Given the description of an element on the screen output the (x, y) to click on. 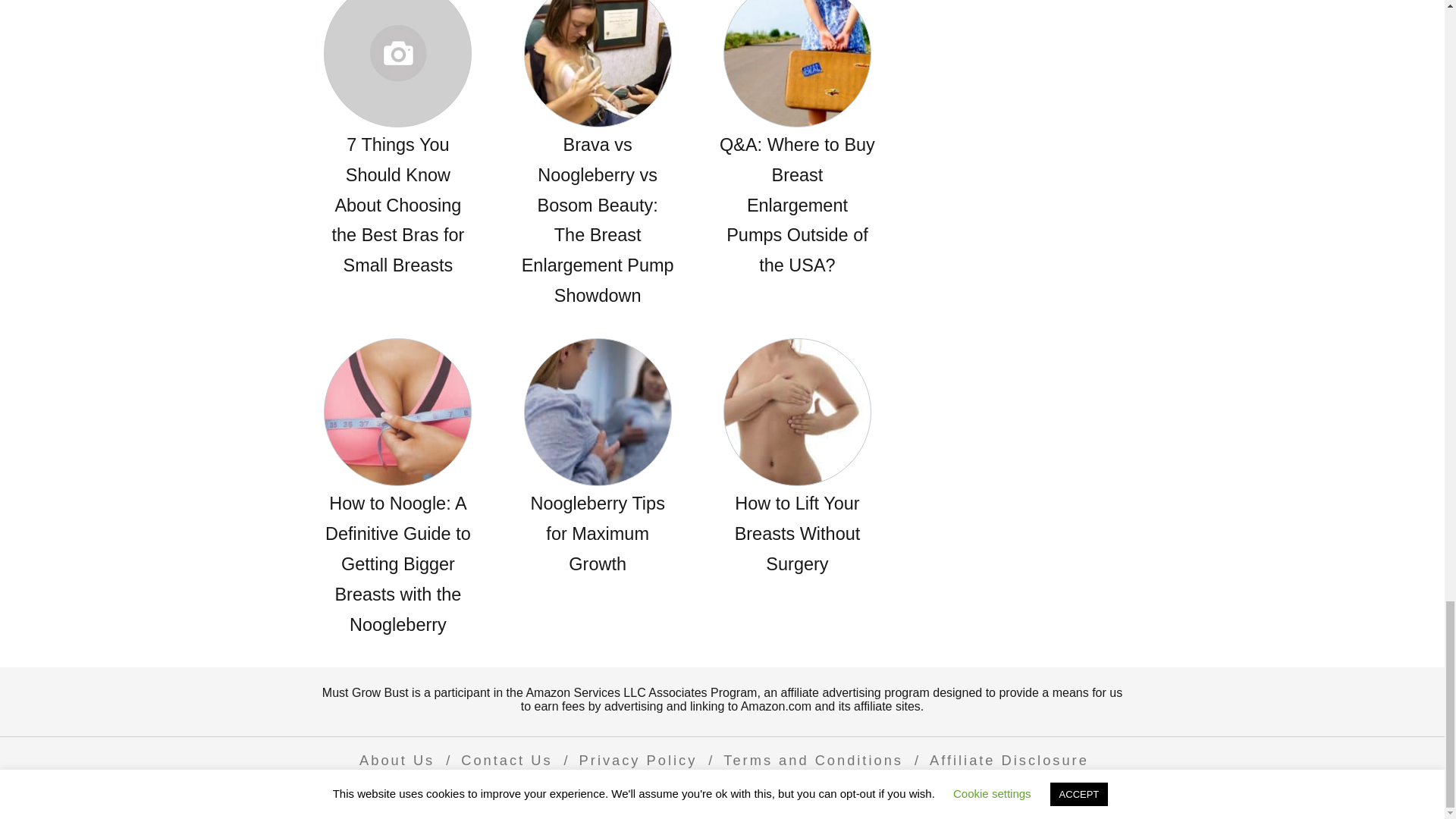
How to Lift Your Breasts Without Surgery (797, 458)
Noogleberry Tips for Maximum Growth (597, 458)
